Given the description of an element on the screen output the (x, y) to click on. 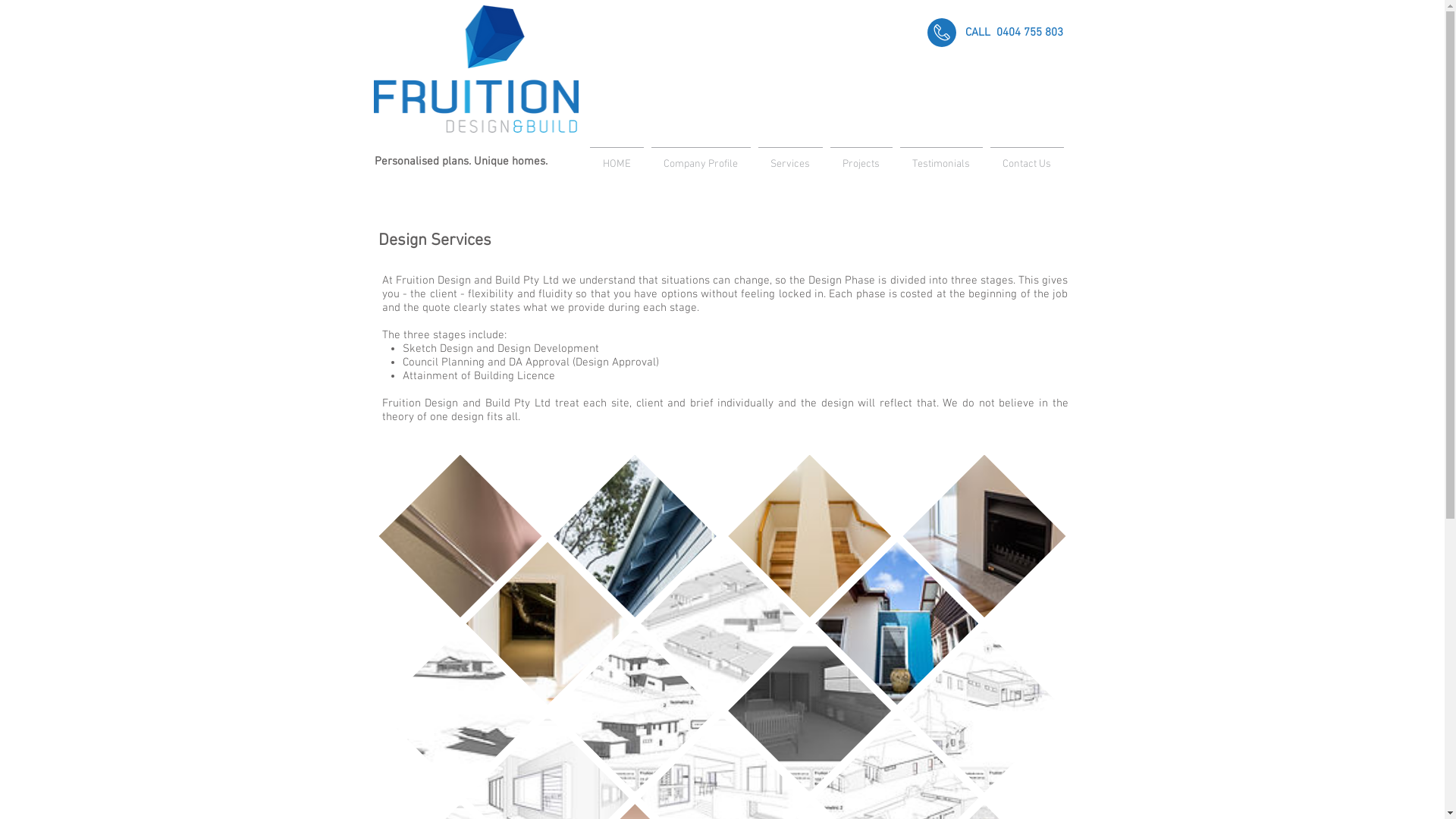
0404 755 803 Element type: text (1029, 32)
Projects Element type: text (861, 157)
Testimonials Element type: text (941, 157)
Services Element type: text (789, 157)
Company Profile Element type: text (700, 157)
HOME Element type: text (615, 157)
Contact Us Element type: text (1025, 157)
